Given the description of an element on the screen output the (x, y) to click on. 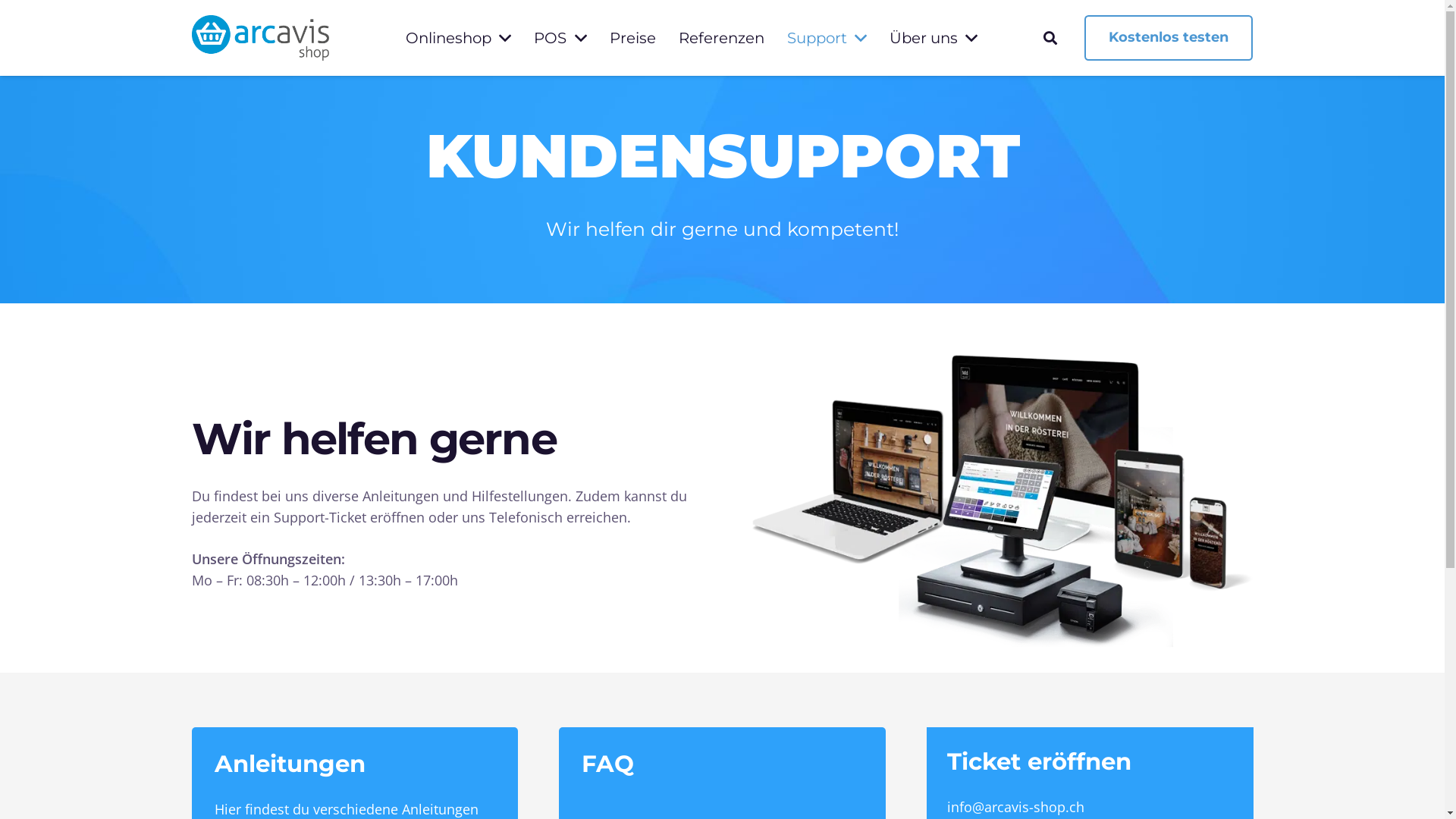
Referenzen Element type: text (721, 37)
POS Element type: text (559, 37)
Onlineshop Element type: text (458, 37)
Support Element type: text (826, 37)
Preise Element type: text (632, 37)
Wir helfen dir gerne und kompetent! Element type: text (721, 228)
Kostenlos testen Element type: text (1168, 37)
